Given the description of an element on the screen output the (x, y) to click on. 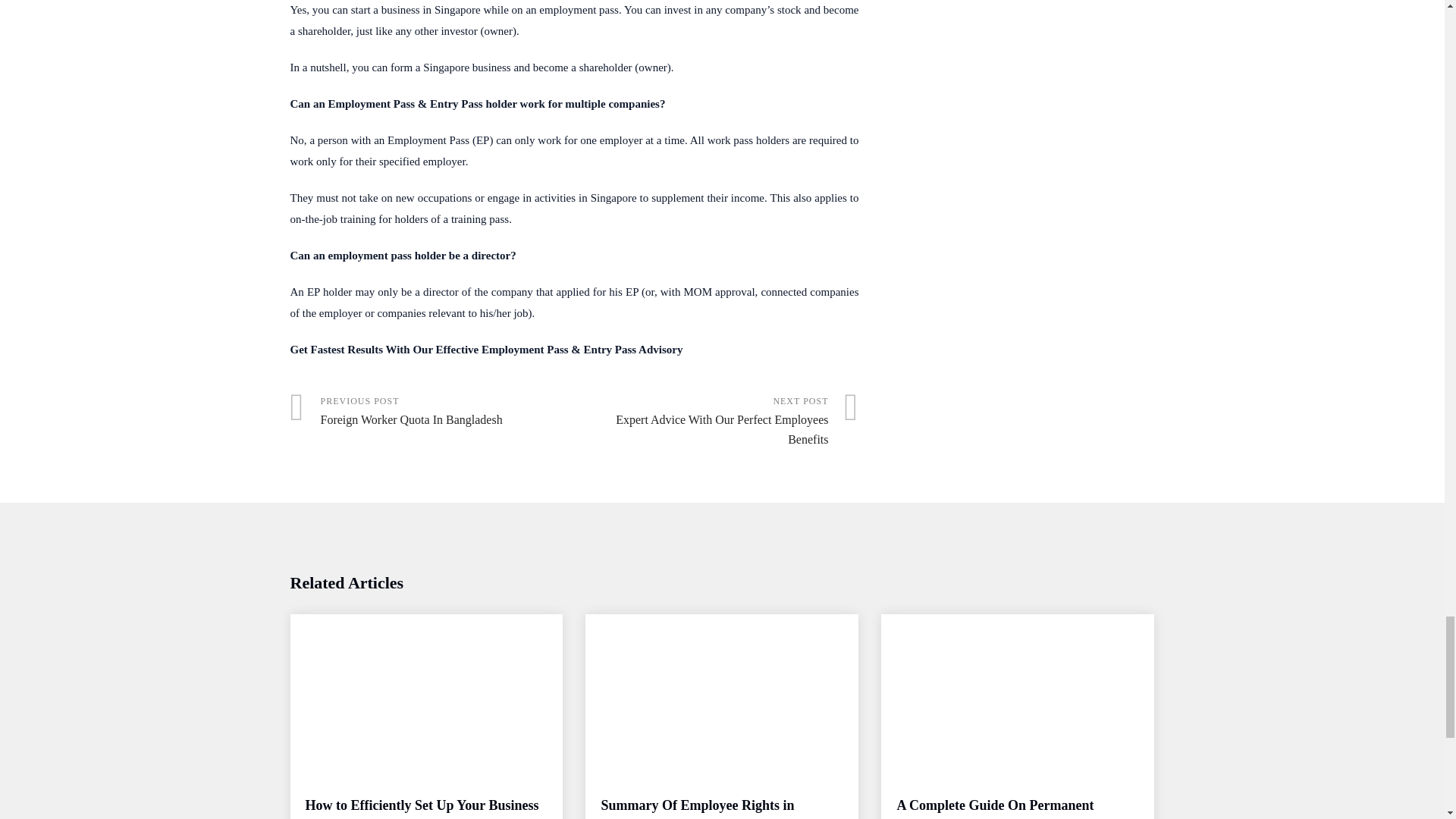
How to Efficiently Set Up Your Business for Success in 2024 (421, 808)
Expert Advice With Our Perfect Employees Benefits (717, 421)
Summary Of Employee Rights in Bangladesh (696, 808)
A Complete Guide On Permanent Residence For Beginners (994, 808)
Foreign Worker Quota In Bangladesh (431, 411)
